Given the description of an element on the screen output the (x, y) to click on. 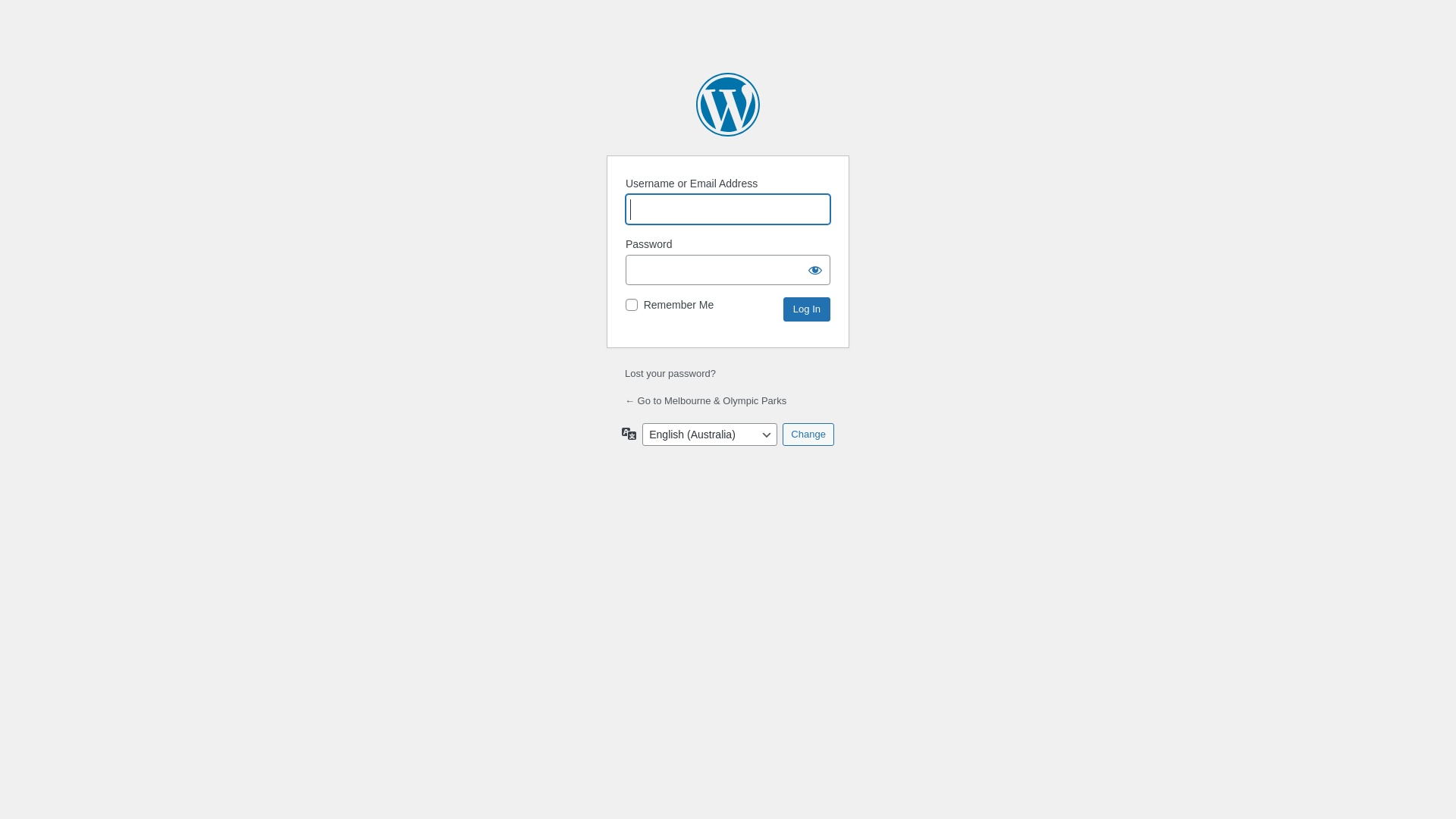
Change Element type: text (808, 434)
Lost your password? Element type: text (669, 373)
Log In Element type: text (806, 309)
Powered by WordPress Element type: text (727, 104)
